Given the description of an element on the screen output the (x, y) to click on. 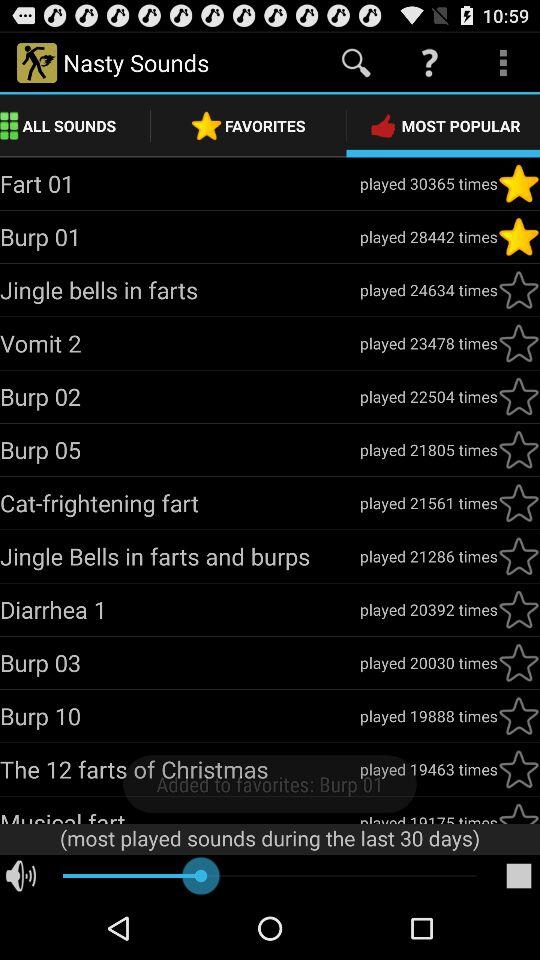
add to favorites (519, 609)
